Given the description of an element on the screen output the (x, y) to click on. 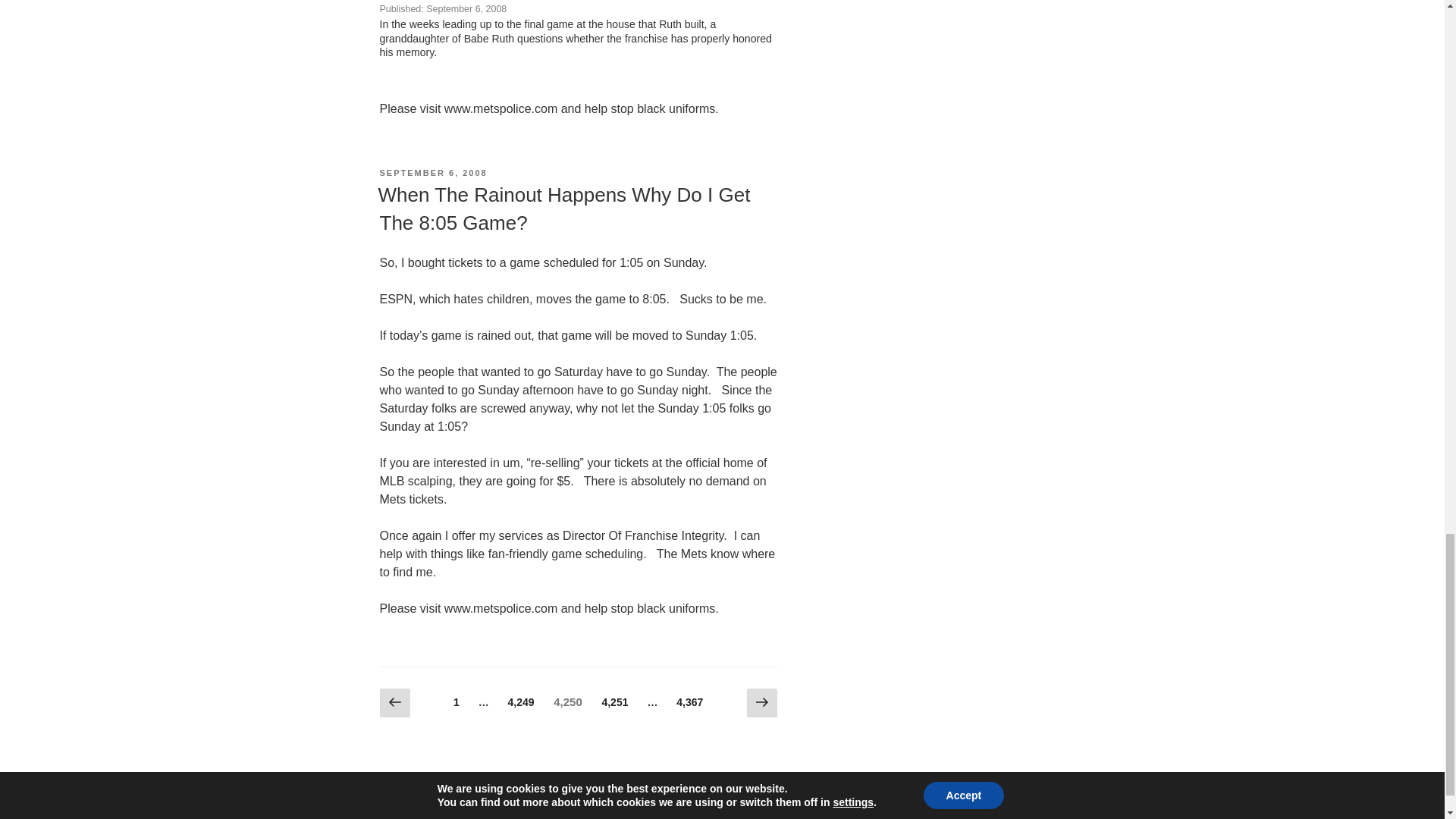
Previous page (615, 702)
Proudly powered by WordPress (393, 703)
When The Rainout Happens Why Do I Get The 8:05 Game? (689, 702)
SEPTEMBER 6, 2008 (527, 816)
Privacy Policy (563, 208)
Next page (432, 172)
